Given the description of an element on the screen output the (x, y) to click on. 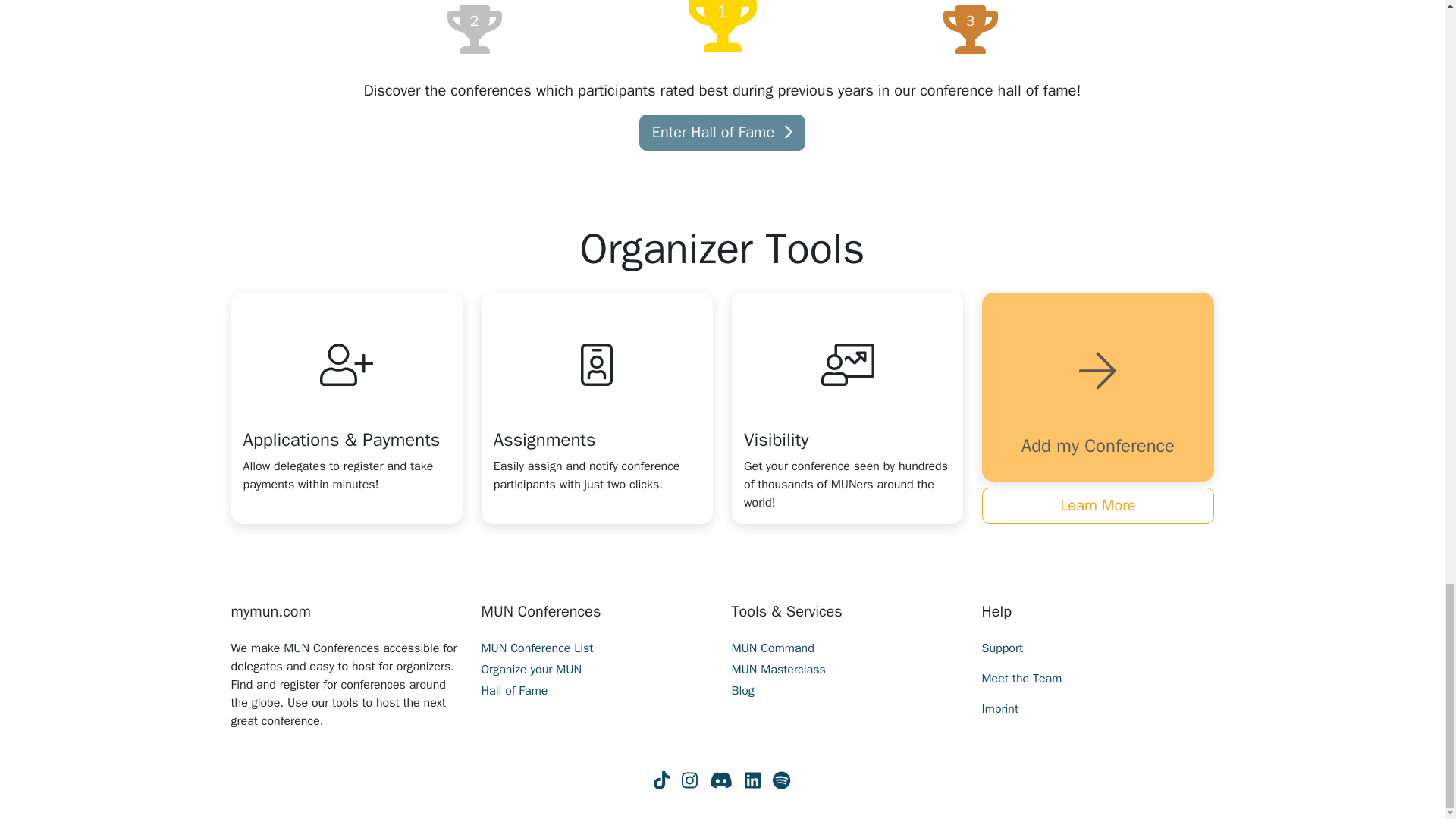
Add my Conference (1096, 386)
Enter Hall of Fame (722, 132)
Add your conference to mymun (1096, 386)
Learn More (1096, 505)
